Given the description of an element on the screen output the (x, y) to click on. 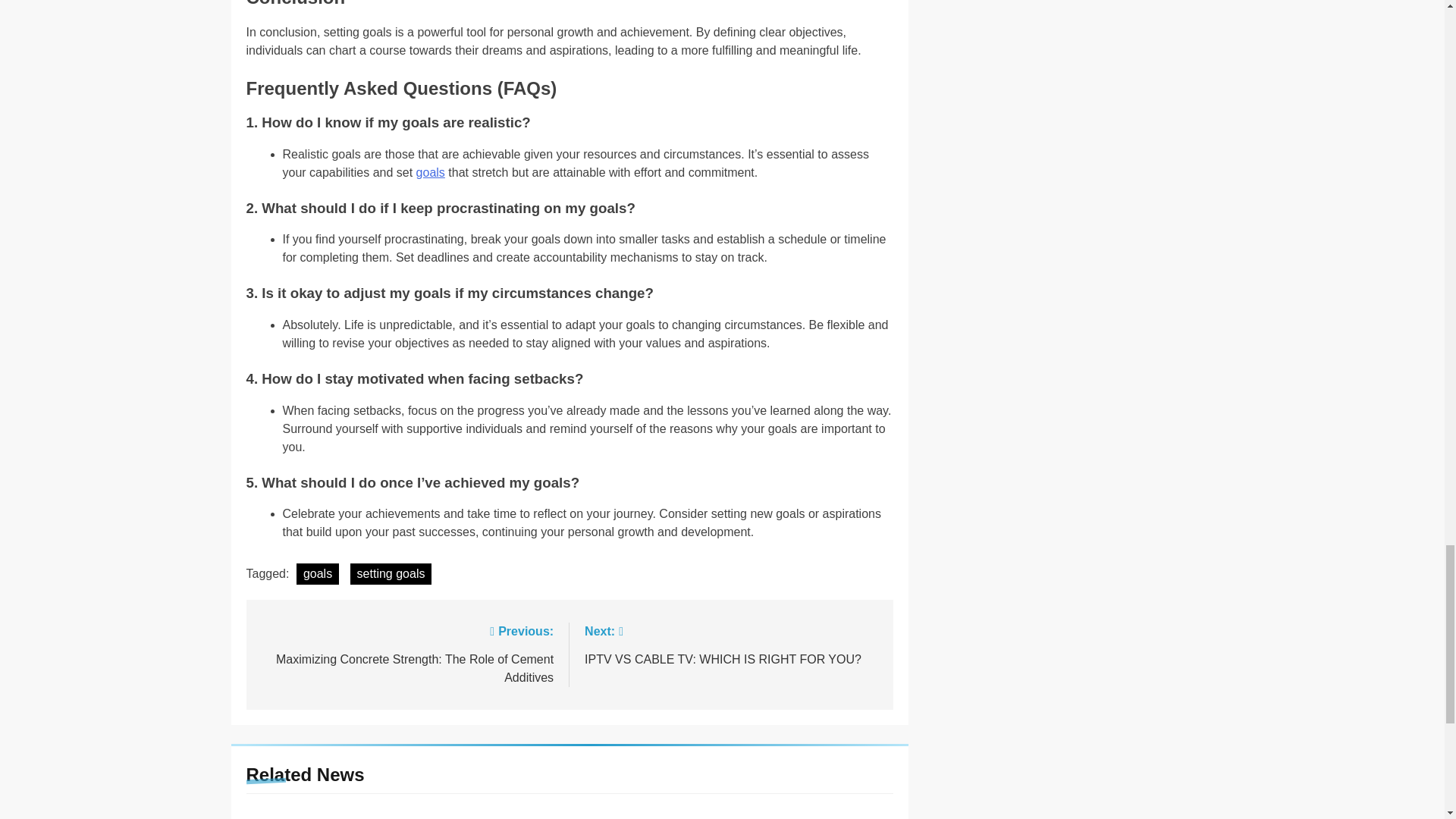
goals (318, 573)
setting goals (391, 573)
goals (430, 172)
